Given the description of an element on the screen output the (x, y) to click on. 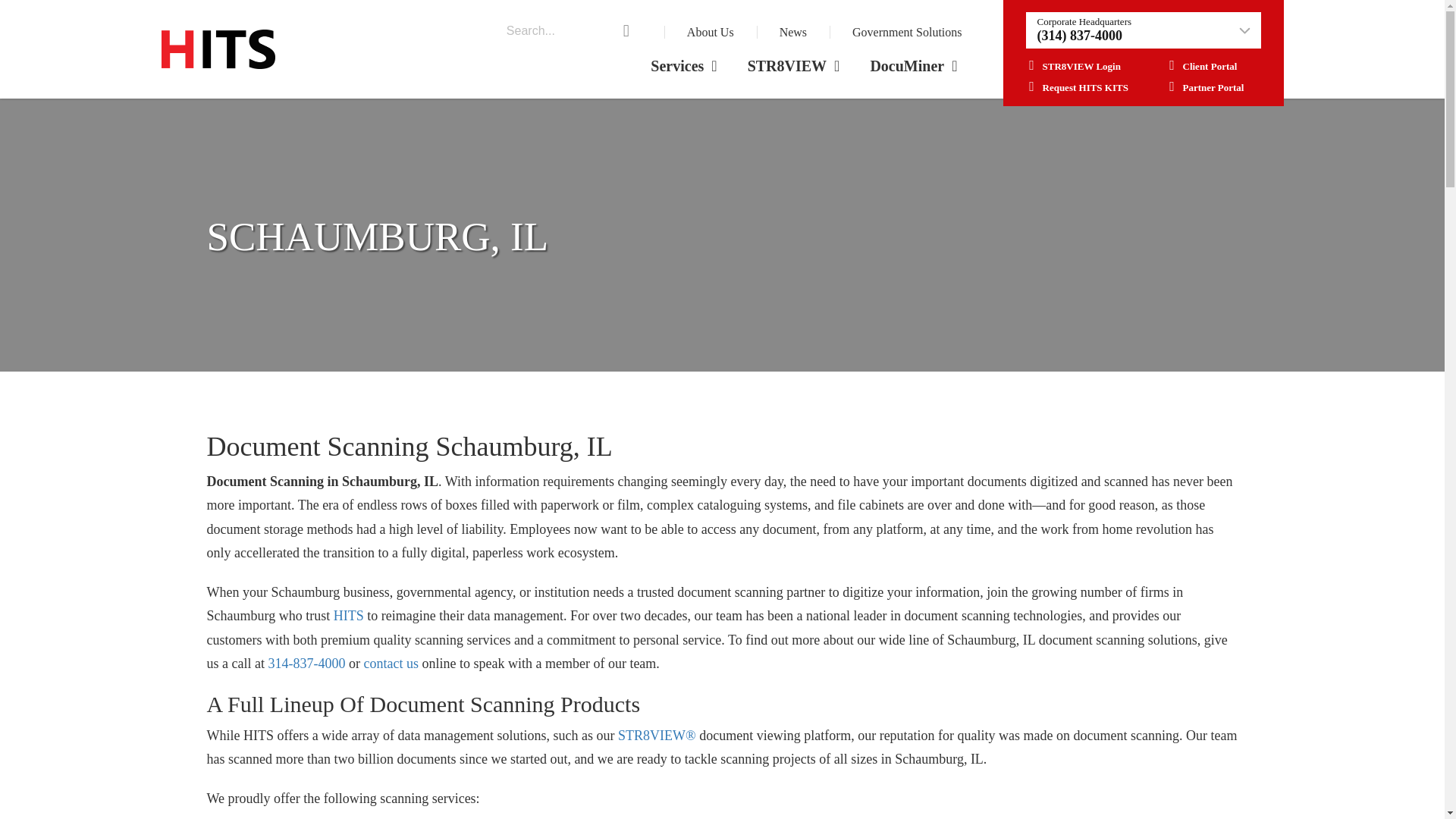
HITS (348, 615)
STR8VIEW (794, 65)
Search (15, 0)
Government Solutions (905, 31)
Request HITS KITS (1075, 87)
314-837-4000 (306, 663)
About Us (710, 31)
News (792, 31)
DocuMiner (913, 65)
STR8VIEW Login (1072, 66)
